Given the description of an element on the screen output the (x, y) to click on. 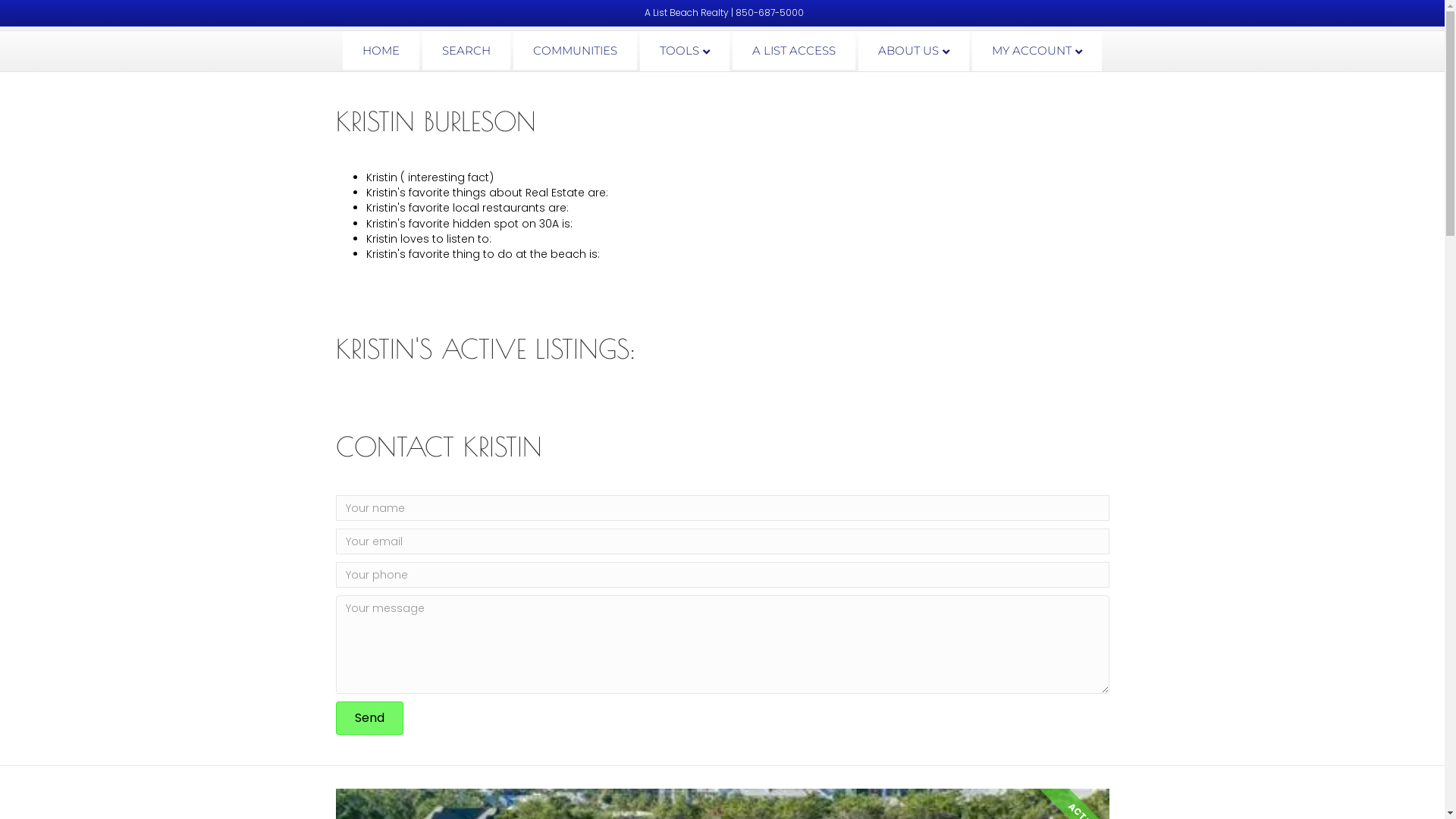
MY ACCOUNT Element type: text (1036, 51)
A LIST ACCESS Element type: text (793, 50)
SEARCH Element type: text (466, 50)
Send Element type: text (368, 717)
TOOLS Element type: text (684, 51)
ABOUT US Element type: text (913, 51)
COMMUNITIES Element type: text (575, 50)
HOME Element type: text (380, 50)
